Given the description of an element on the screen output the (x, y) to click on. 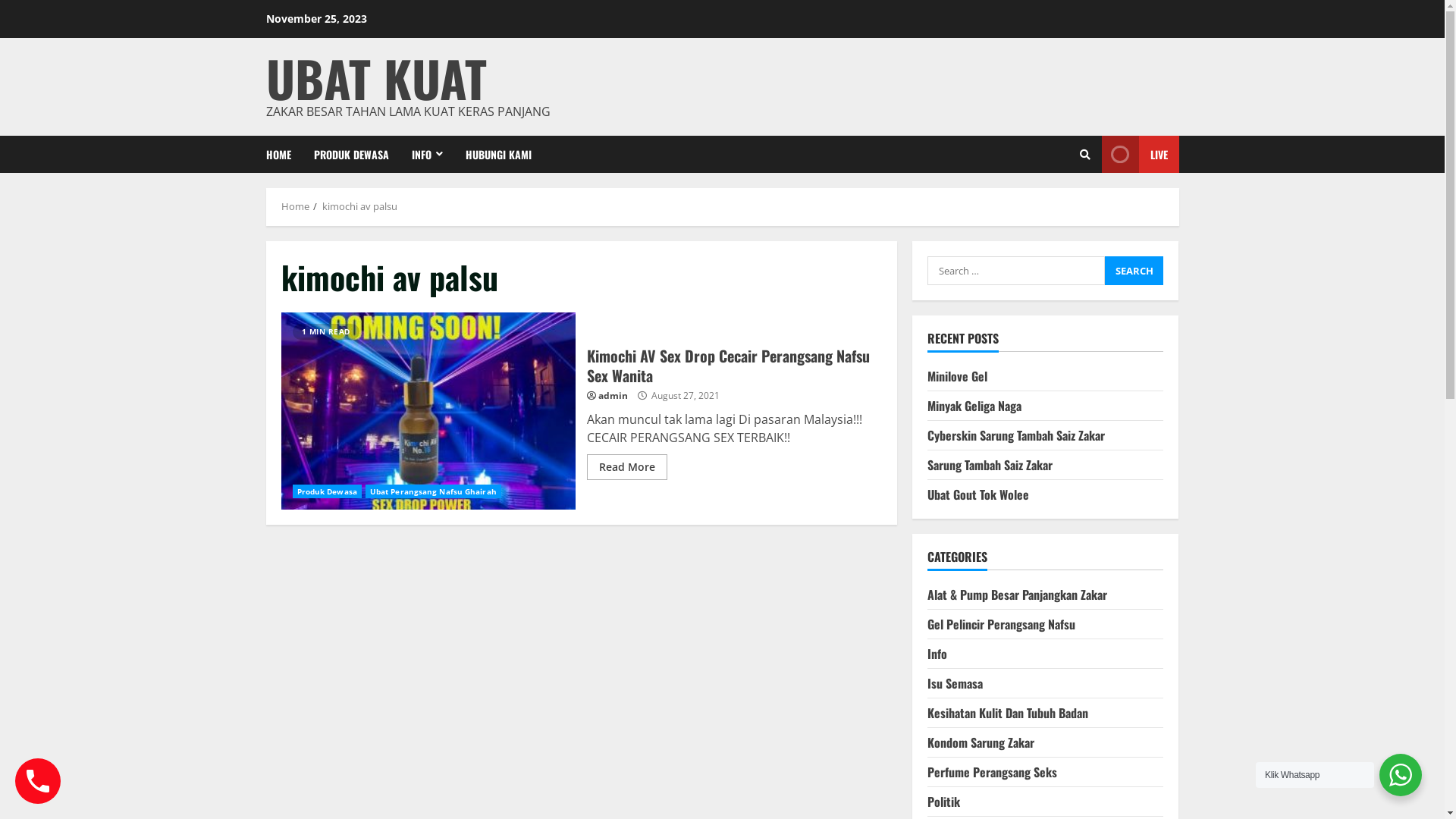
INFO Element type: text (427, 153)
LIVE Element type: text (1139, 153)
Perfume Perangsang Seks Element type: text (992, 771)
Kondom Sarung Zakar Element type: text (980, 742)
Isu Semasa Element type: text (954, 683)
Gel Pelincir Perangsang Nafsu Element type: text (1001, 624)
Info Element type: text (937, 653)
Kesihatan Kulit Dan Tubuh Badan Element type: text (1007, 712)
UBAT KUAT Element type: text (375, 77)
Sarung Tambah Saiz Zakar Element type: text (989, 464)
Ubat Perangsang Nafsu Ghairah Element type: text (433, 491)
Read More Element type: text (626, 467)
Minyak Geliga Naga Element type: text (974, 405)
Search Element type: text (1050, 205)
Minilove Gel Element type: text (957, 376)
Kimochi AV Sex Drop Cecair Perangsang Nafsu Sex Wanita Element type: text (427, 410)
HOME Element type: text (283, 153)
Produk Dewasa Element type: text (326, 491)
Alat & Pump Besar Panjangkan Zakar Element type: text (1017, 594)
Politik Element type: text (943, 801)
Cyberskin Sarung Tambah Saiz Zakar Element type: text (1015, 435)
HUBUNGI KAMI Element type: text (491, 153)
Home Element type: text (294, 206)
admin Element type: text (612, 395)
Search Element type: text (1134, 270)
Kimochi AV Sex Drop Cecair Perangsang Nafsu Sex Wanita Element type: text (727, 365)
kimochi av palsu Element type: text (358, 206)
Search Element type: hover (1084, 153)
PRODUK DEWASA Element type: text (350, 153)
Ubat Gout Tok Wolee Element type: text (978, 494)
